Given the description of an element on the screen output the (x, y) to click on. 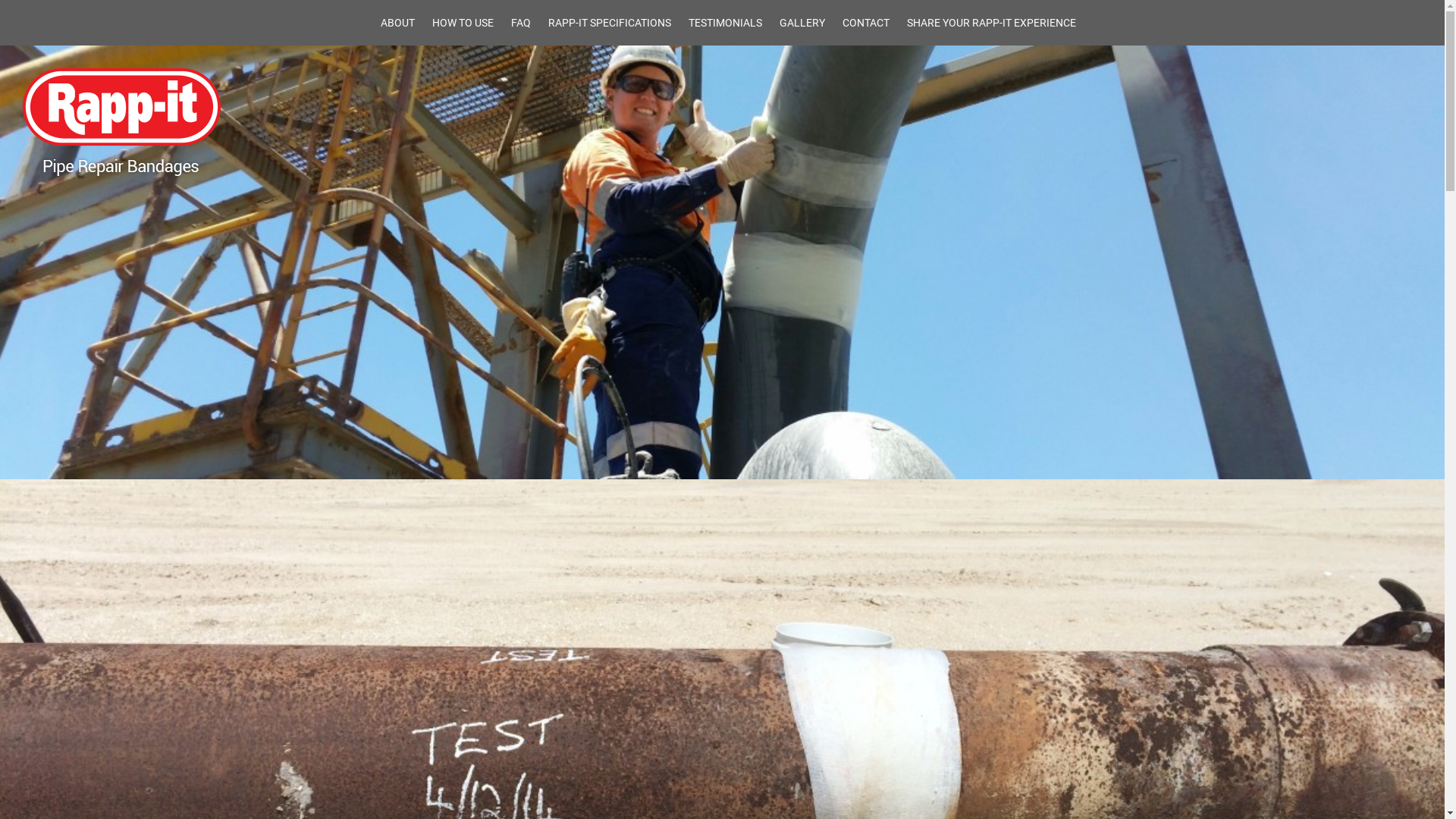
CONTACT Element type: text (865, 22)
FAQ Element type: text (520, 22)
HOW TO USE Element type: text (462, 22)
ABOUT Element type: text (397, 22)
RAPP-IT SPECIFICATIONS Element type: text (608, 22)
GALLERY Element type: text (801, 22)
TESTIMONIALS Element type: text (724, 22)
SHARE YOUR RAPP-IT EXPERIENCE Element type: text (991, 22)
